Given the description of an element on the screen output the (x, y) to click on. 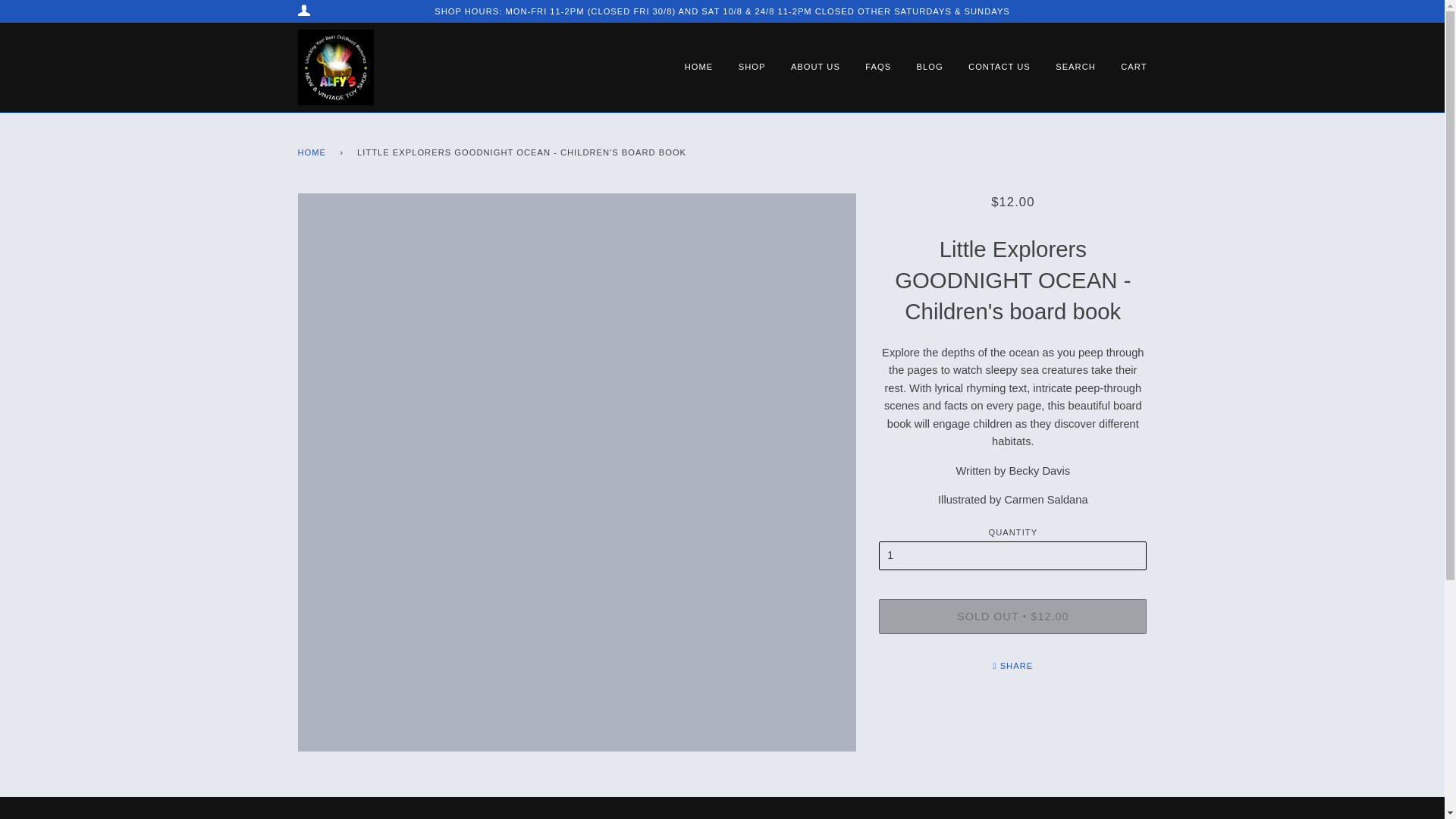
1 (1013, 555)
Back to the frontpage (314, 152)
